Given the description of an element on the screen output the (x, y) to click on. 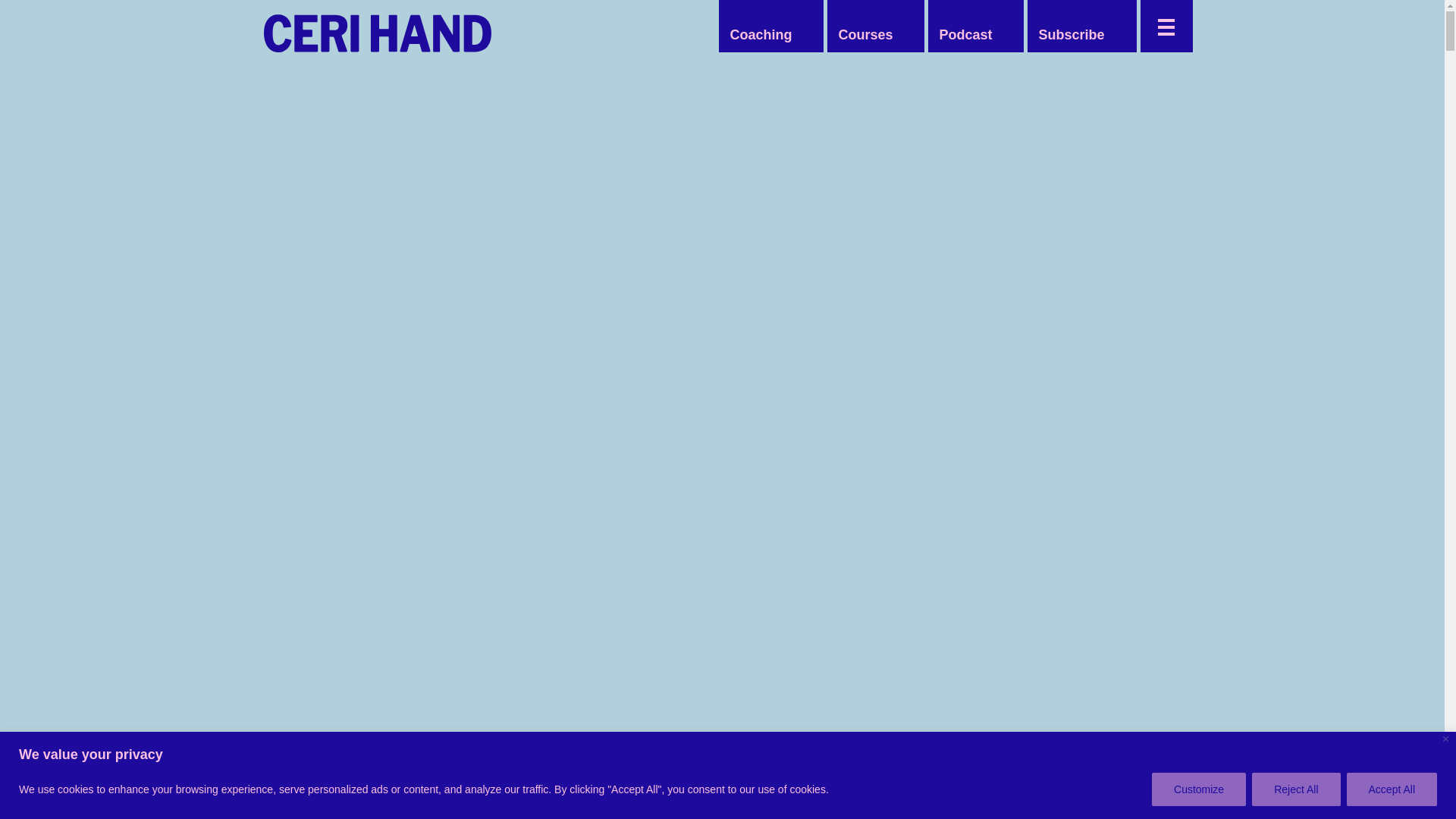
Coaching (760, 34)
Subscribe (1070, 34)
Podcast (964, 34)
Accept All (1391, 788)
Reject All (1295, 788)
Customize (1198, 788)
Courses (864, 34)
